Given the description of an element on the screen output the (x, y) to click on. 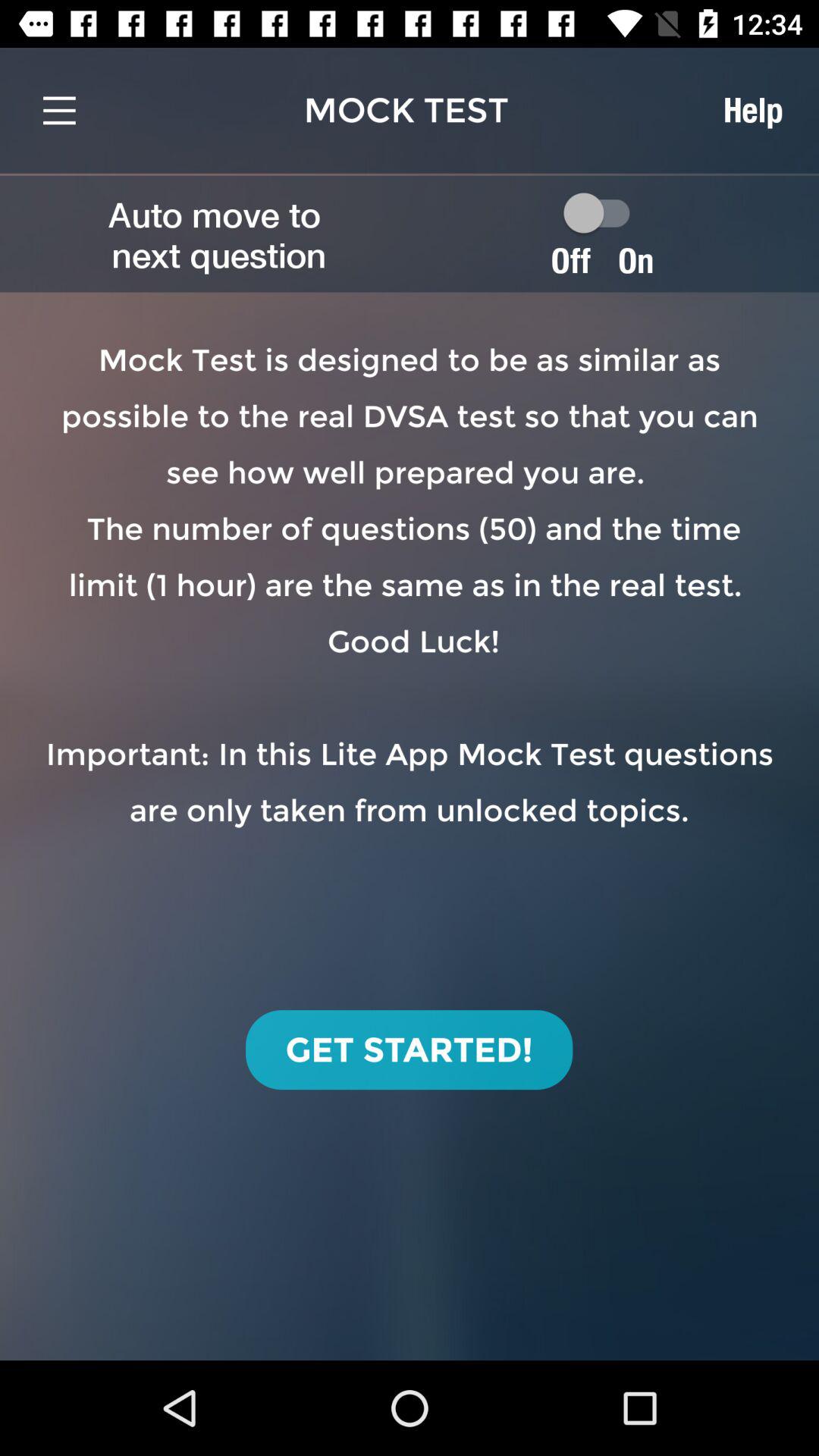
on-off (603, 212)
